Given the description of an element on the screen output the (x, y) to click on. 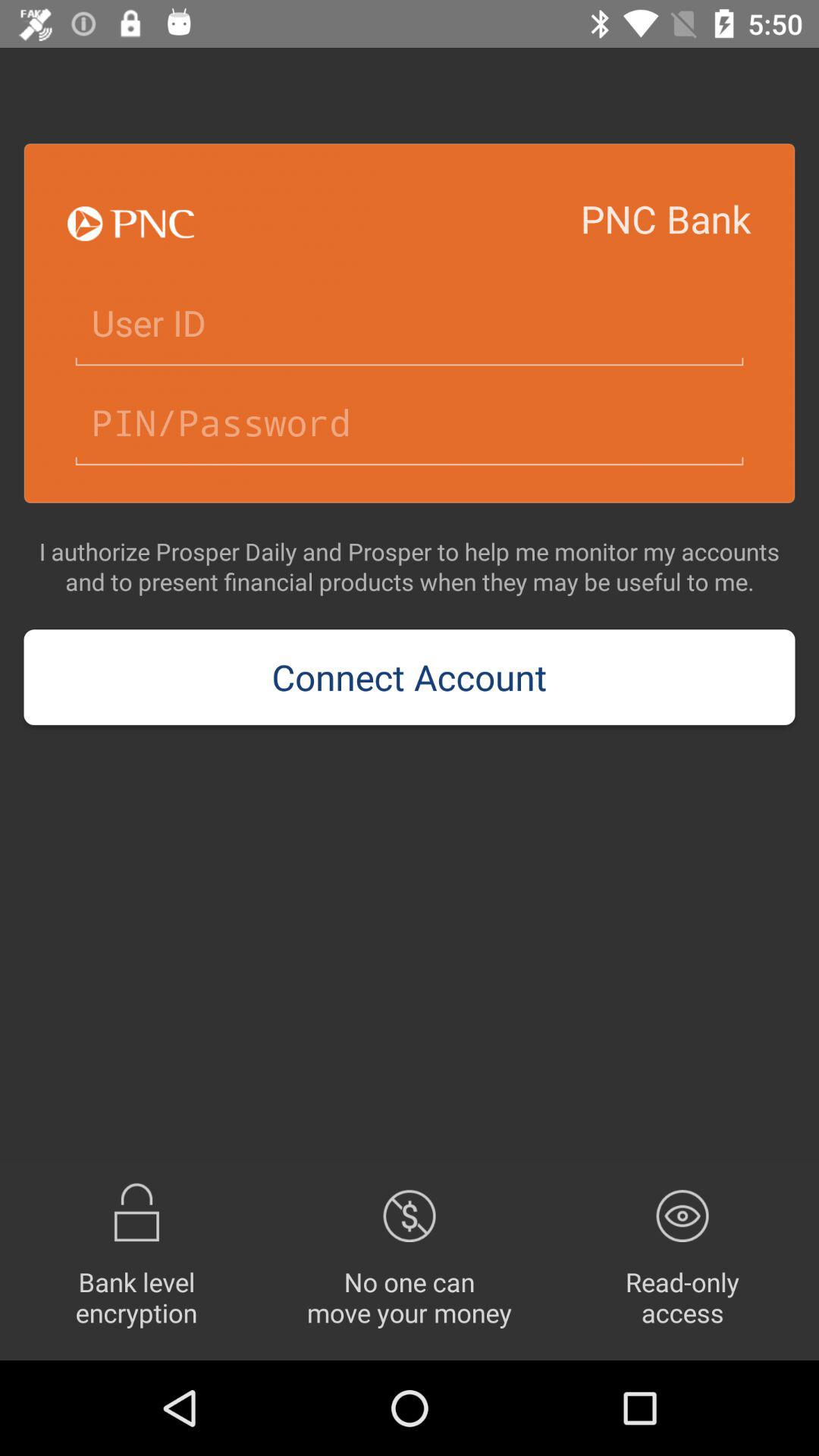
user the password in the account (409, 423)
